Given the description of an element on the screen output the (x, y) to click on. 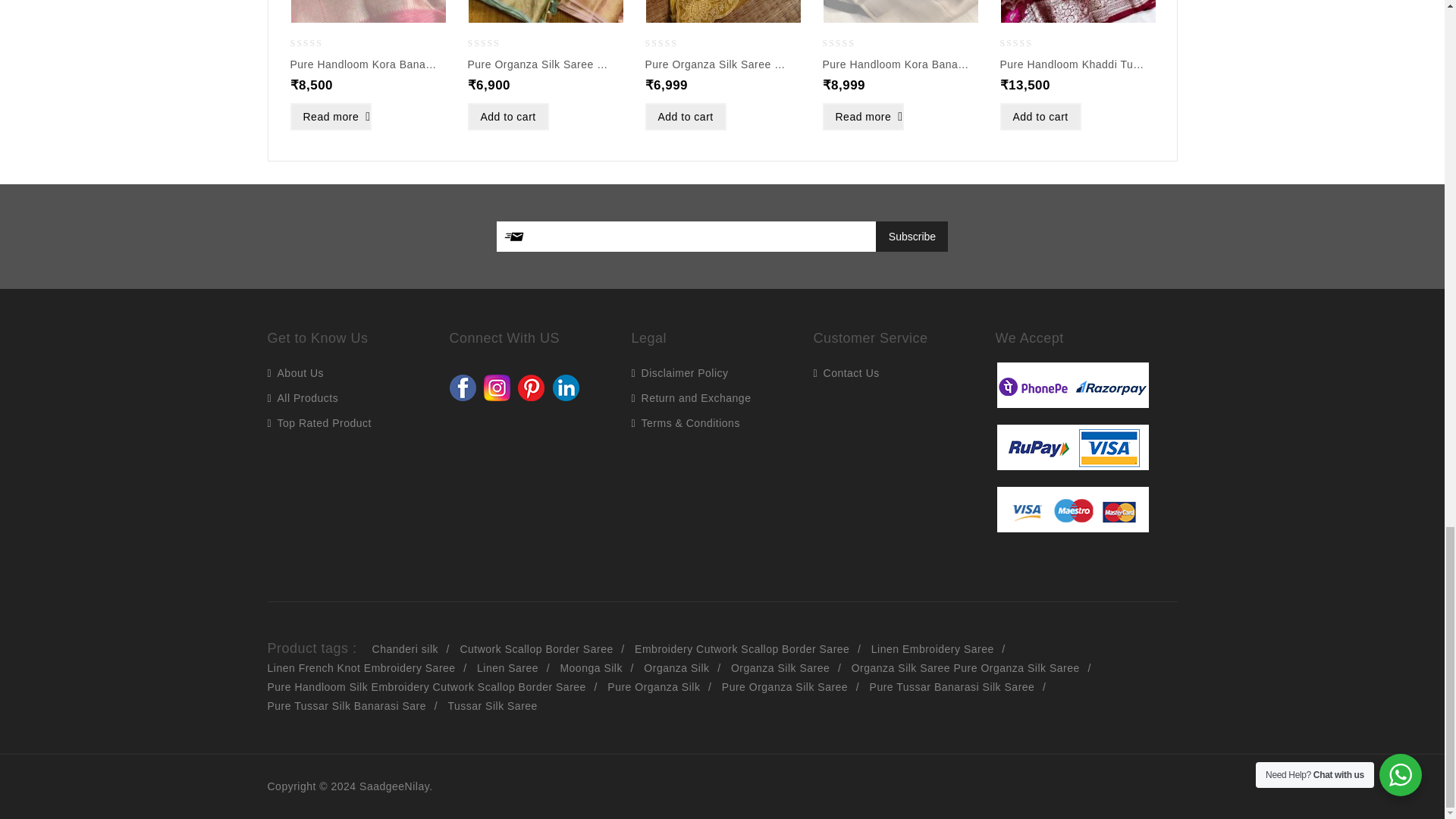
Subscribe (911, 236)
